Given the description of an element on the screen output the (x, y) to click on. 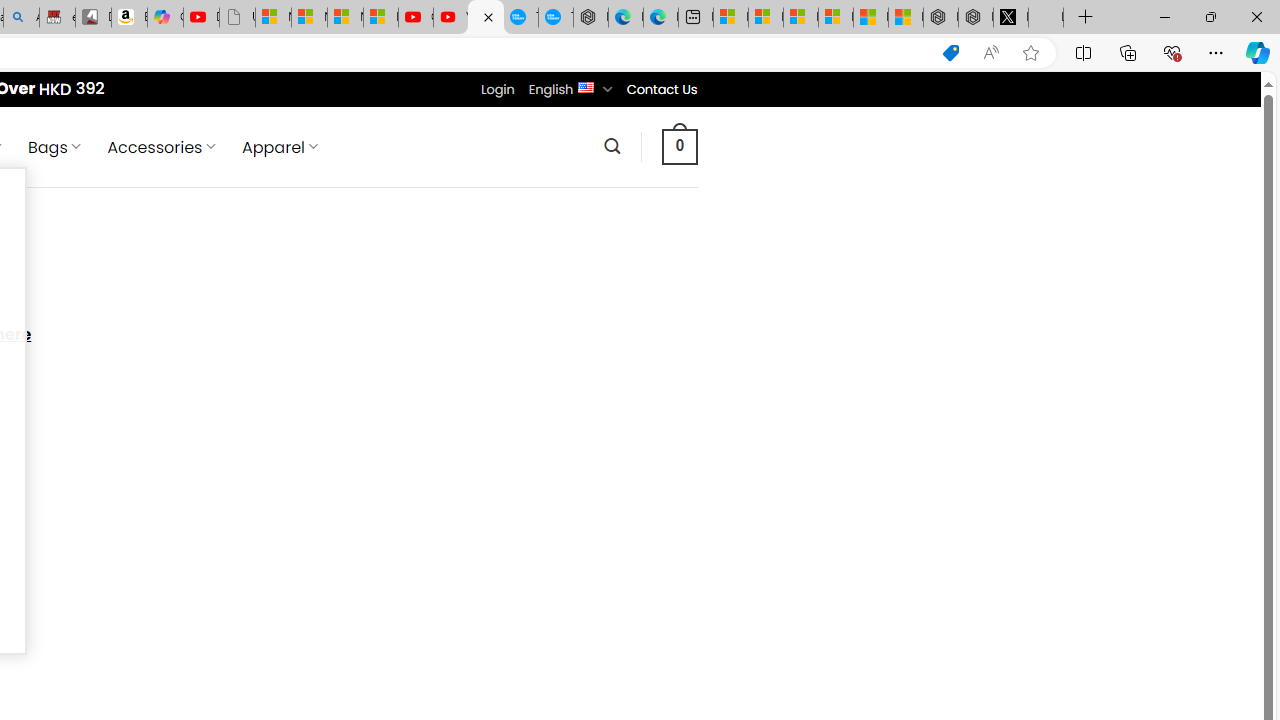
YouTube Kids - An App Created for Kids to Explore Content (450, 17)
Untitled (1046, 17)
The most popular Google 'how to' searches (555, 17)
